Given the description of an element on the screen output the (x, y) to click on. 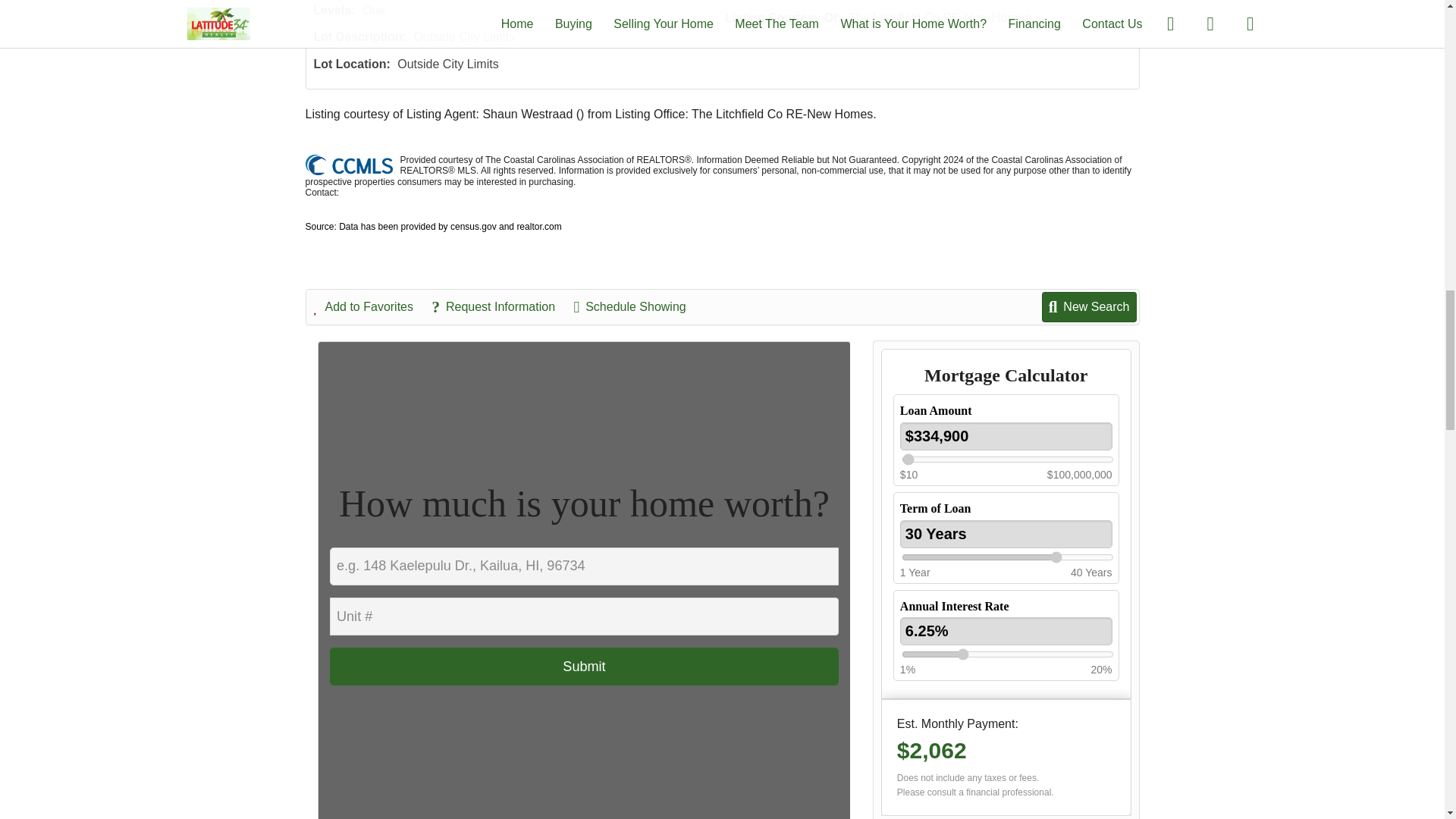
334900 (1007, 459)
30 Years (1005, 533)
6.25 (1007, 654)
30 (1007, 557)
